Given the description of an element on the screen output the (x, y) to click on. 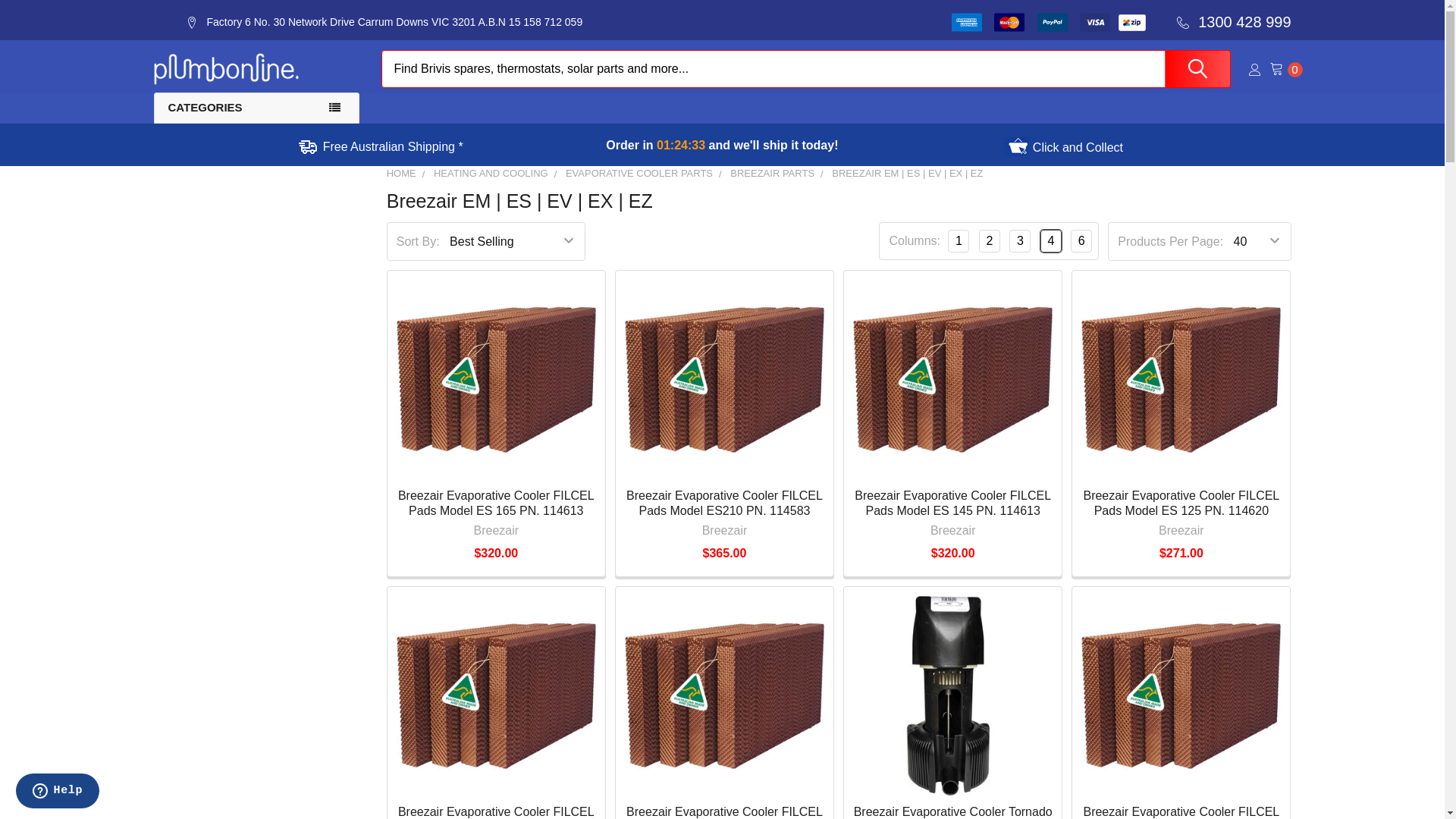
BREEZAIR PARTS Element type: text (772, 172)
CATEGORIES Element type: text (255, 107)
Opens a widget where you can chat to one of our agents Element type: hover (57, 792)
1300 428 999 Element type: text (1228, 22)
Search Element type: text (1192, 68)
truck-icon.png Element type: hover (307, 147)
HOME Element type: text (401, 172)
Free Australian Shipping * Element type: text (380, 145)
BREEZAIR EM | ES | EV | EX | EZ Element type: text (906, 172)
0 Element type: text (1279, 69)
HEATING AND COOLING Element type: text (490, 172)
Click and Collect Element type: text (1063, 147)
EVAPORATIVE COOLER PARTS Element type: text (638, 172)
plumbonline Element type: hover (225, 68)
